Given the description of an element on the screen output the (x, y) to click on. 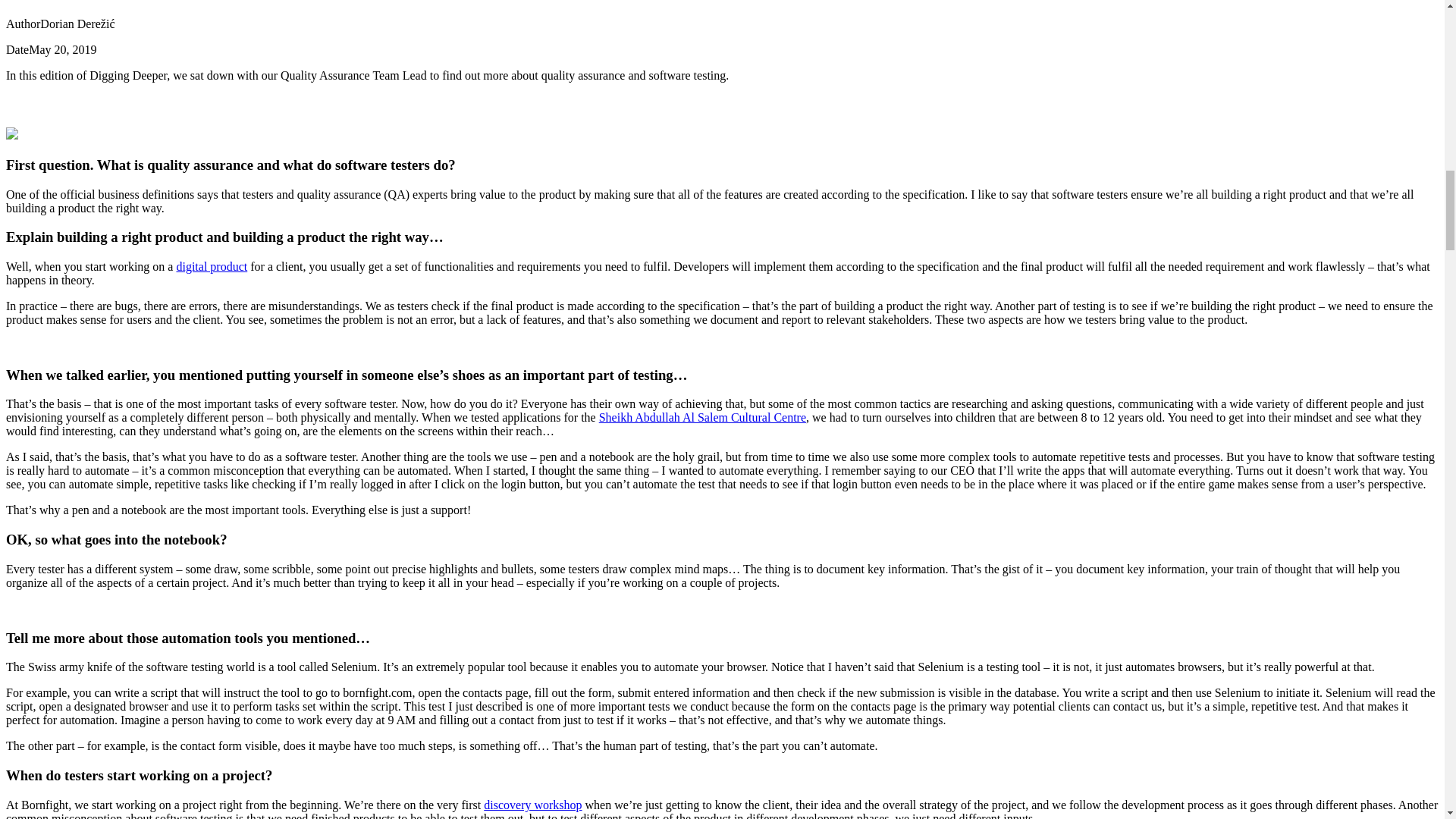
discovery workshop (531, 804)
digital product (211, 266)
Sheikh Abdullah Al Salem Cultural Centre (702, 417)
